Given the description of an element on the screen output the (x, y) to click on. 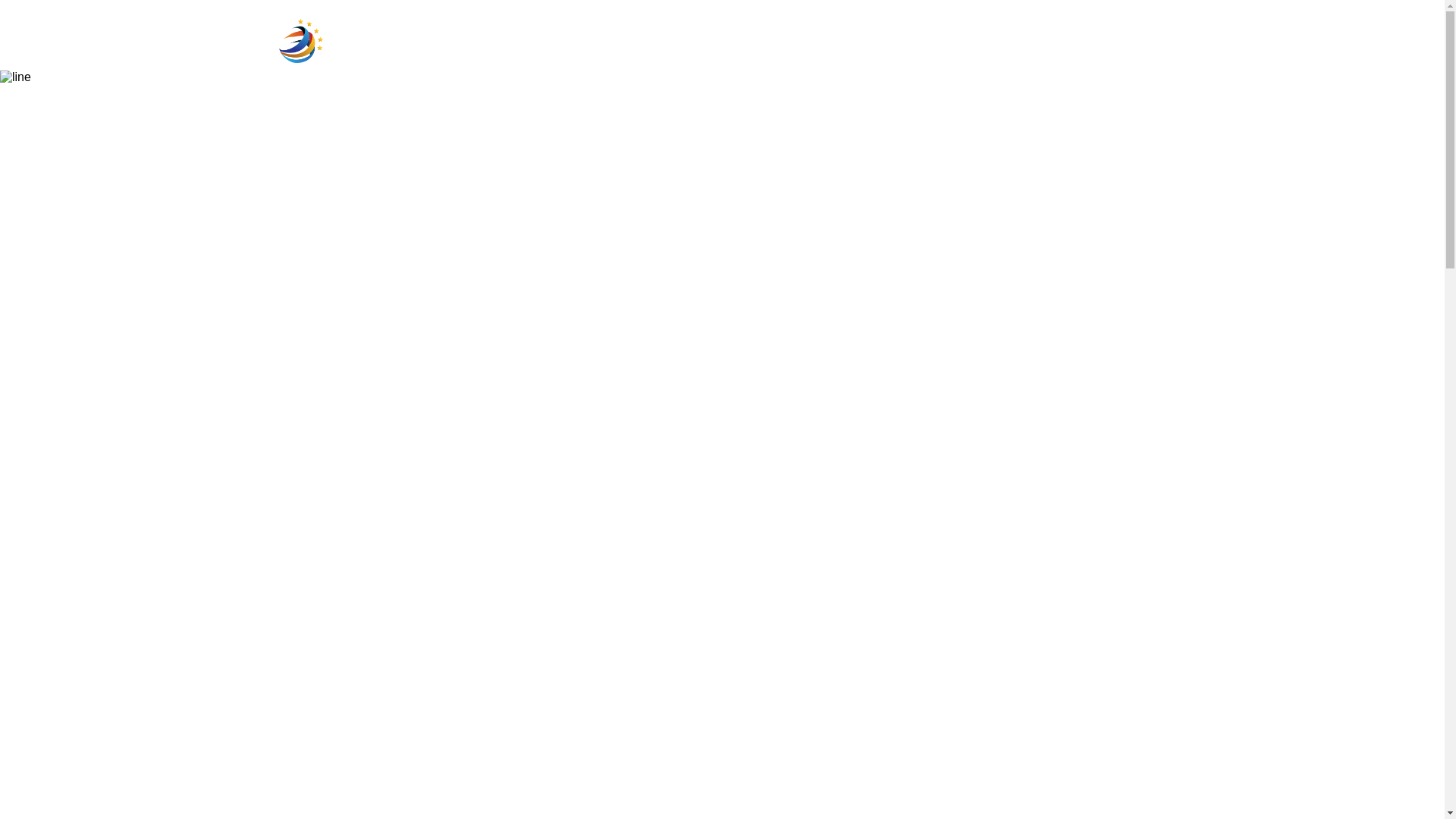
+7 (927) 042-82-94 Element type: text (1068, 30)
